Given the description of an element on the screen output the (x, y) to click on. 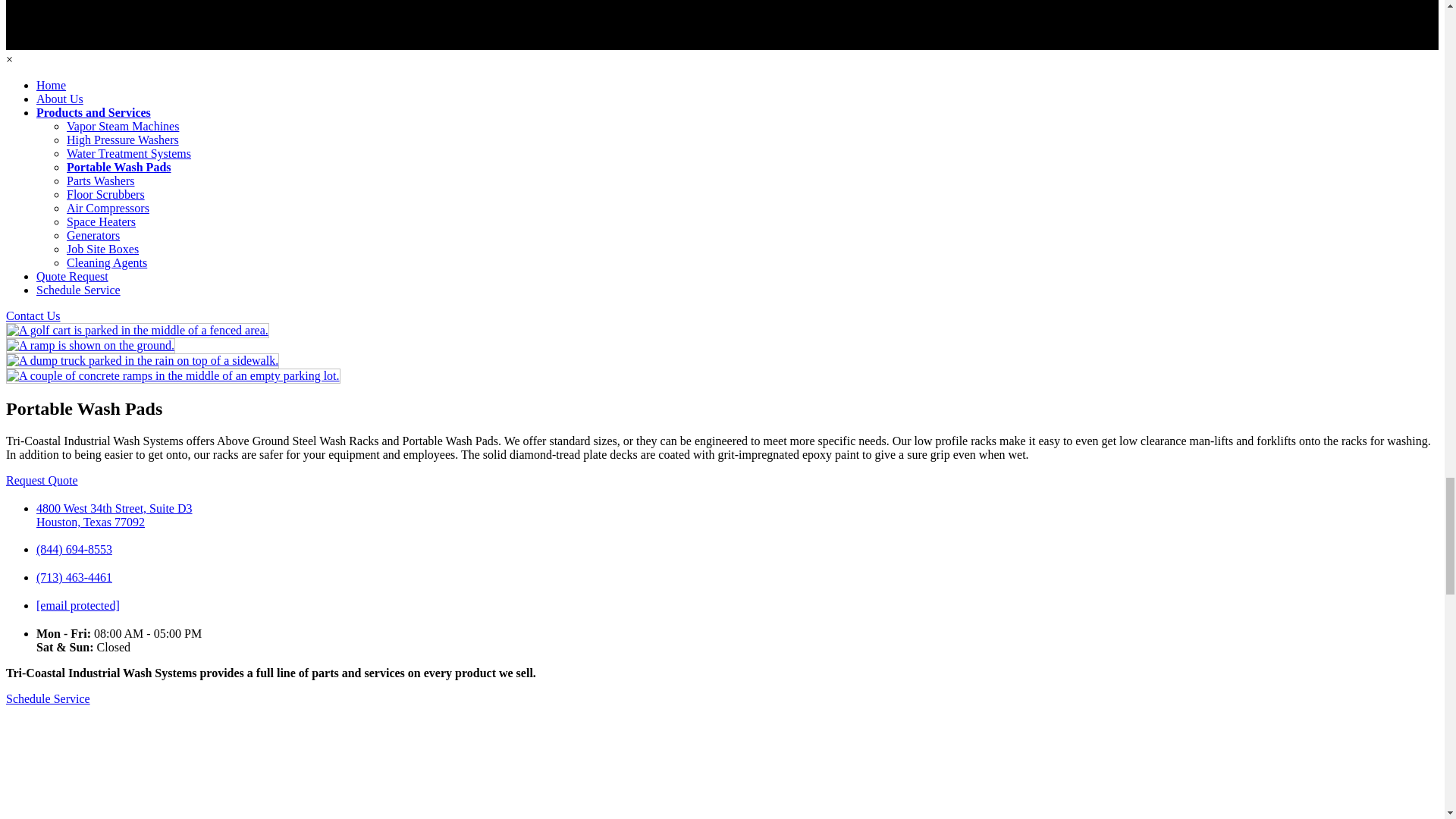
Contact Us (33, 315)
Air Compressors (107, 207)
Job Site Boxes (102, 248)
High Pressure Washers (122, 139)
Water Treatment Systems (128, 153)
Parts Washers (100, 180)
About Us (59, 98)
Products and Services (93, 112)
Vapor Steam Machines (122, 125)
Cleaning Agents (106, 262)
